Given the description of an element on the screen output the (x, y) to click on. 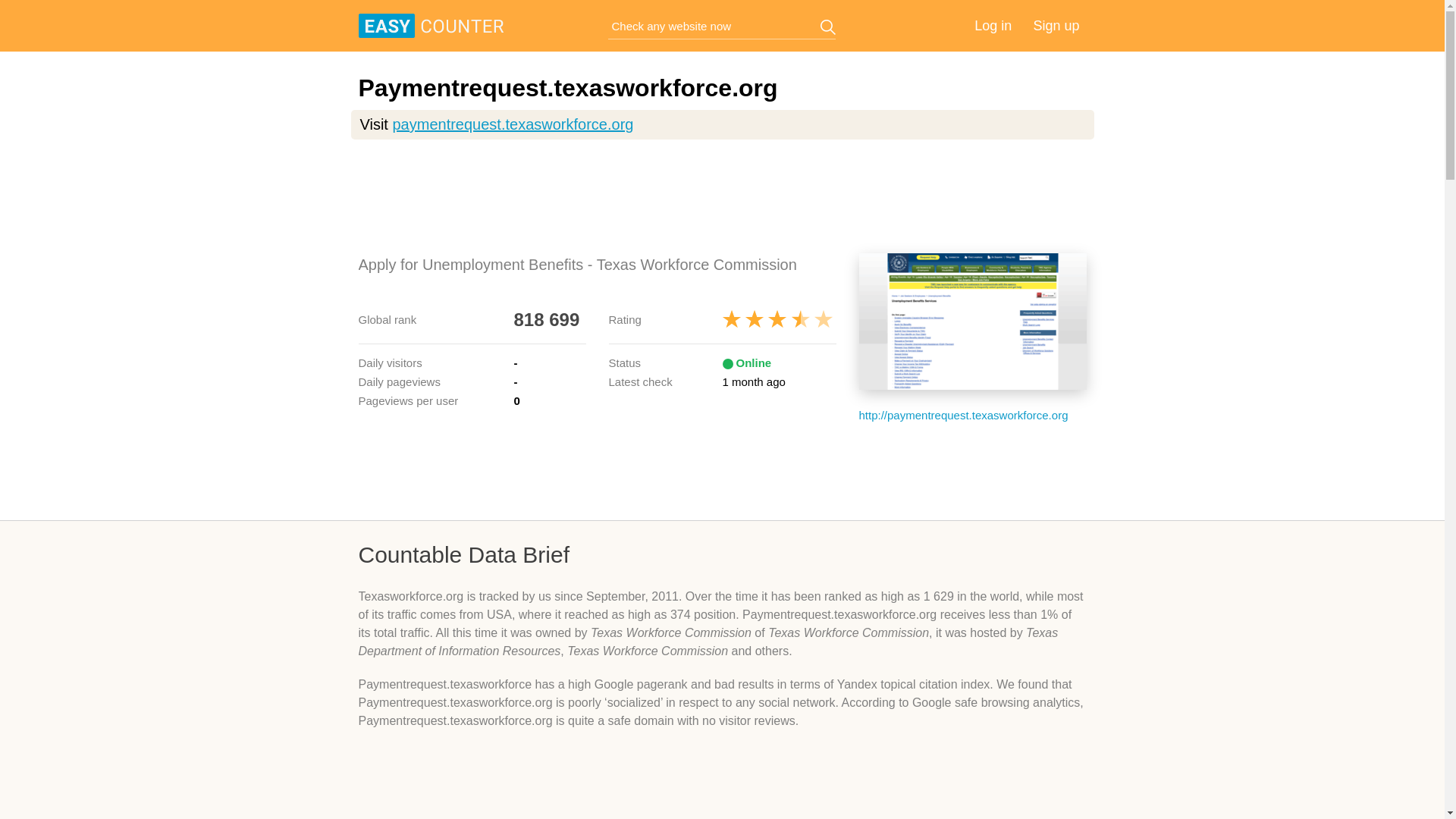
Advertisement (722, 470)
Advertisement (722, 196)
Sign up (1056, 25)
Advertisement (722, 785)
Log in (992, 25)
paymentrequest.texasworkforce.org (512, 124)
Paymentrequest.texasworkforce.org thumbnail (972, 321)
